Given the description of an element on the screen output the (x, y) to click on. 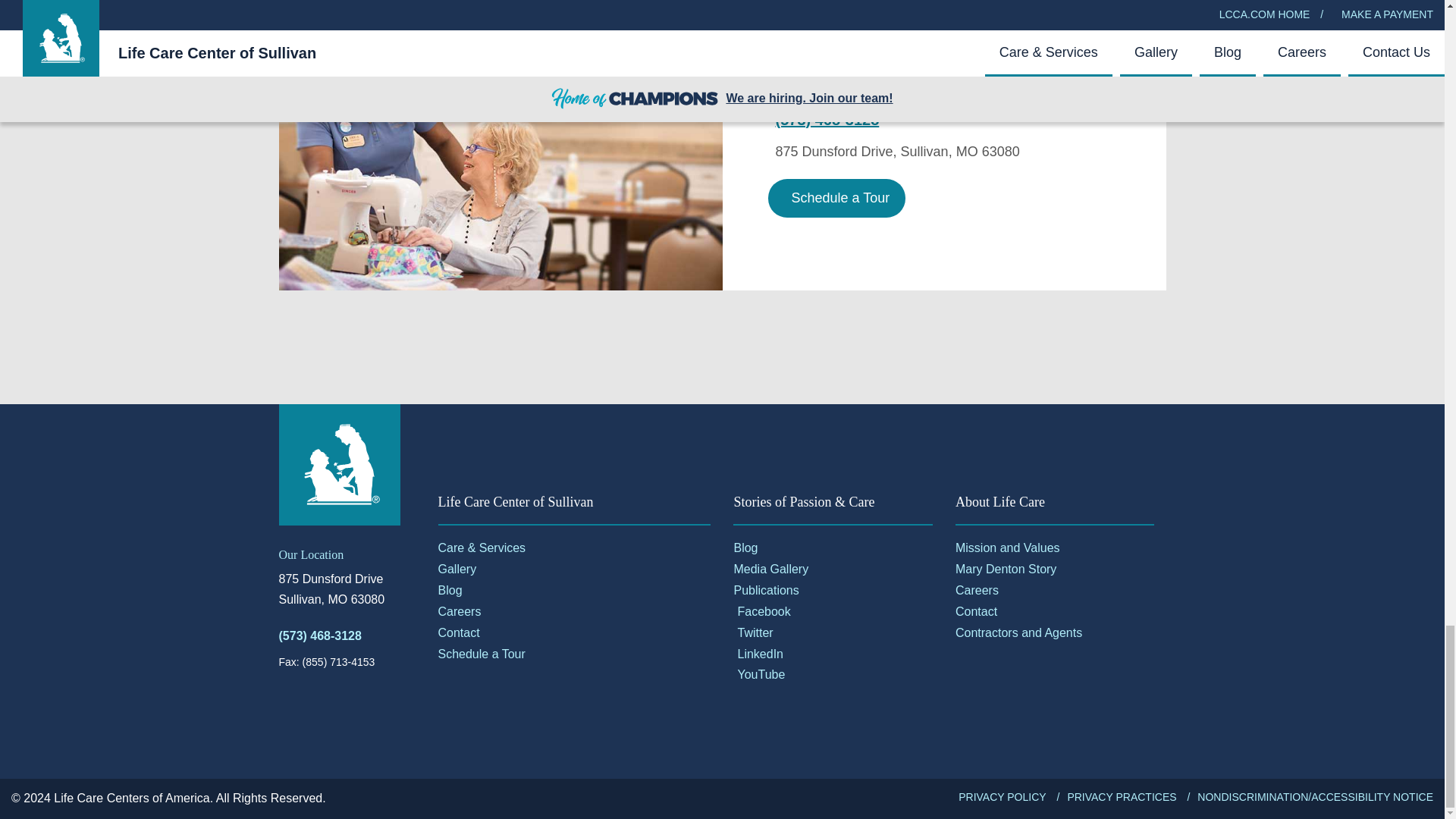
Gallery (574, 569)
Schedule a Tour (836, 198)
Life Care Center of Sullivan (500, 145)
Life Care Centers of America (340, 465)
